Given the description of an element on the screen output the (x, y) to click on. 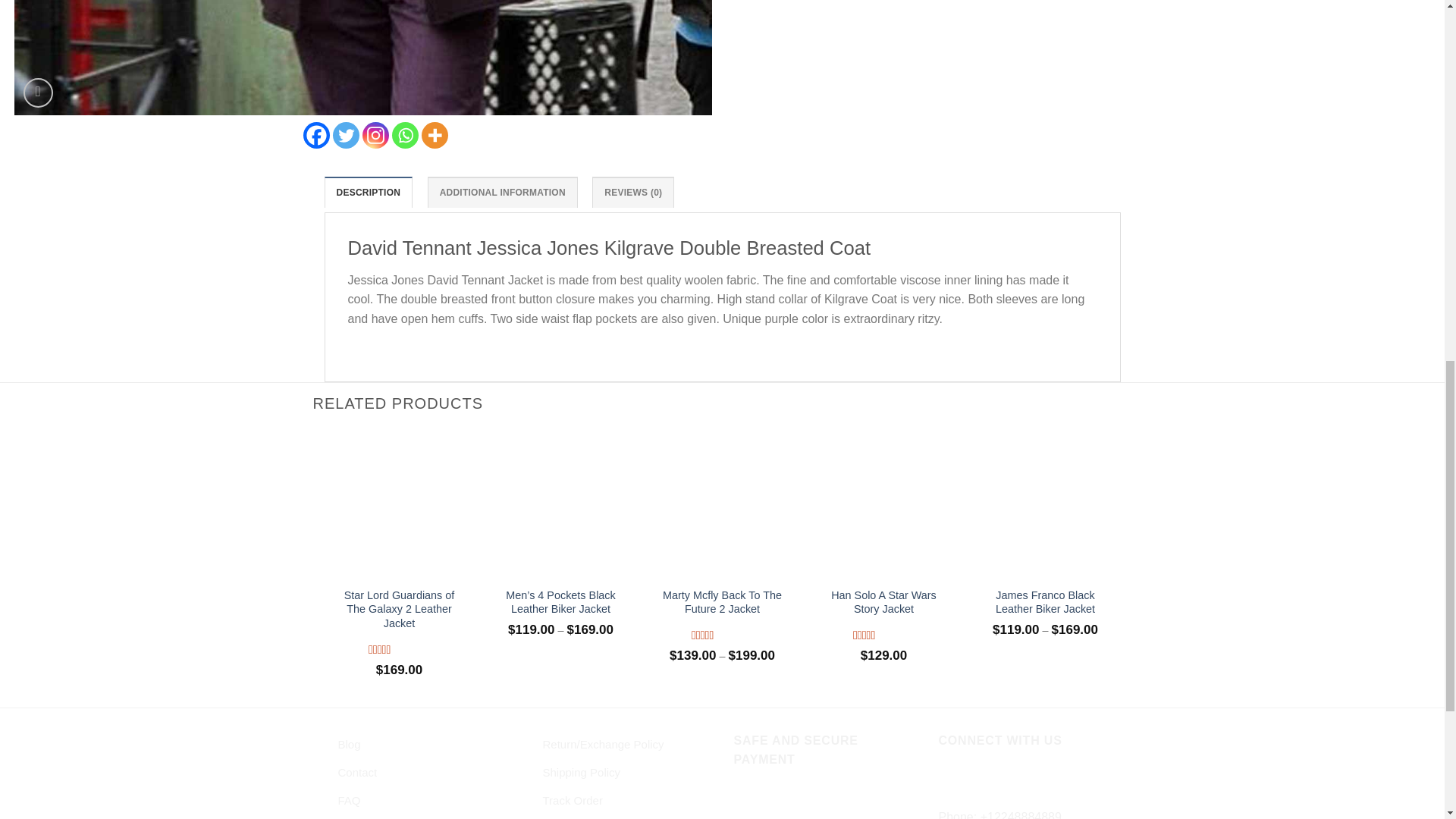
jessica-jones-david-tennant-jacket (362, 57)
Instagram (375, 135)
Facebook (316, 135)
Twitter (344, 135)
Zoom (37, 92)
